Given the description of an element on the screen output the (x, y) to click on. 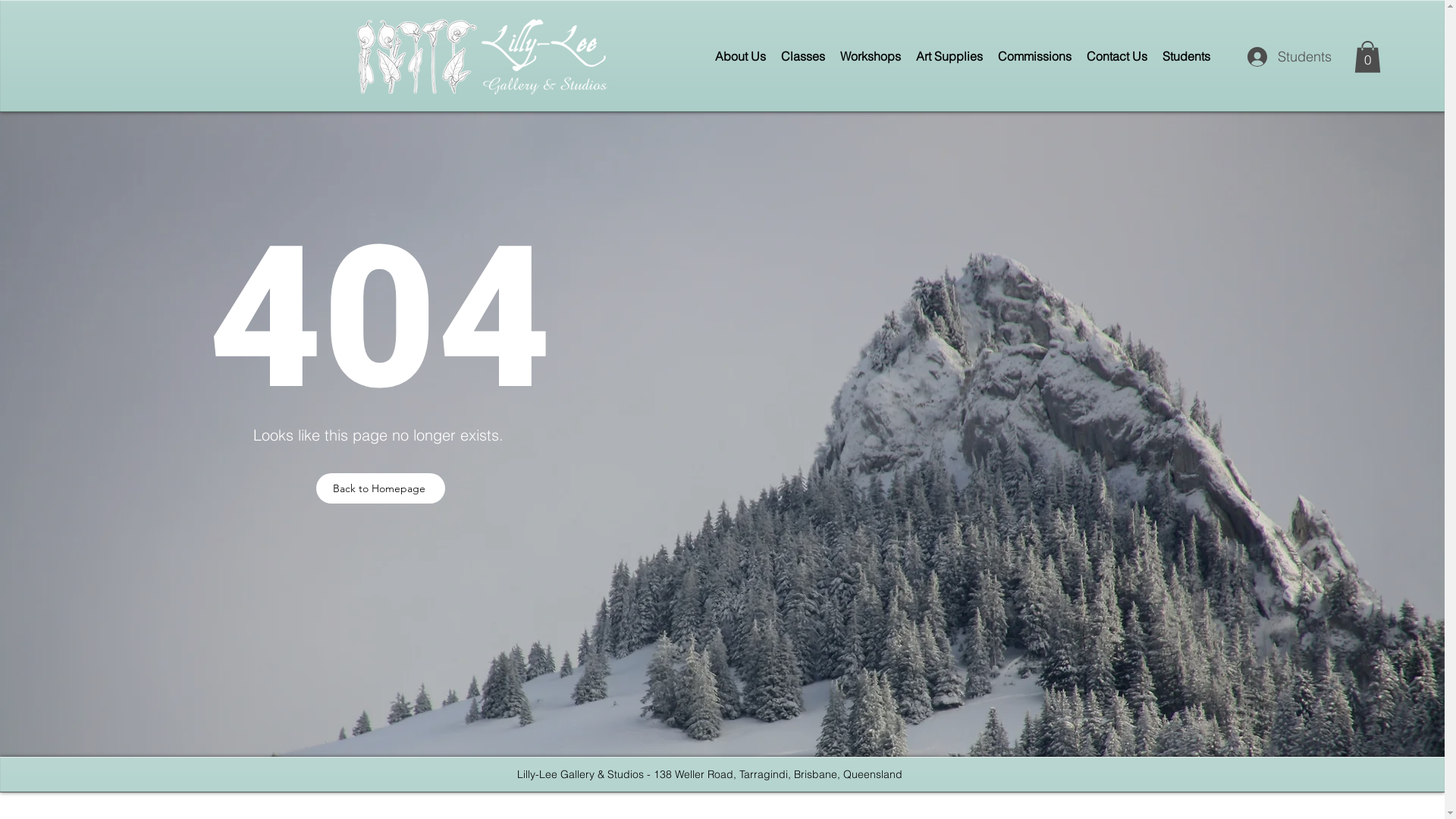
Students Element type: text (1185, 56)
Workshops Element type: text (870, 56)
Back to Homepage Element type: text (380, 488)
0 Element type: text (1367, 56)
Commissions Element type: text (1034, 56)
About Us Element type: text (740, 56)
Students Element type: text (1281, 56)
Art Supplies Element type: text (949, 56)
Classes Element type: text (802, 56)
Contact Us Element type: text (1116, 56)
